Given the description of an element on the screen output the (x, y) to click on. 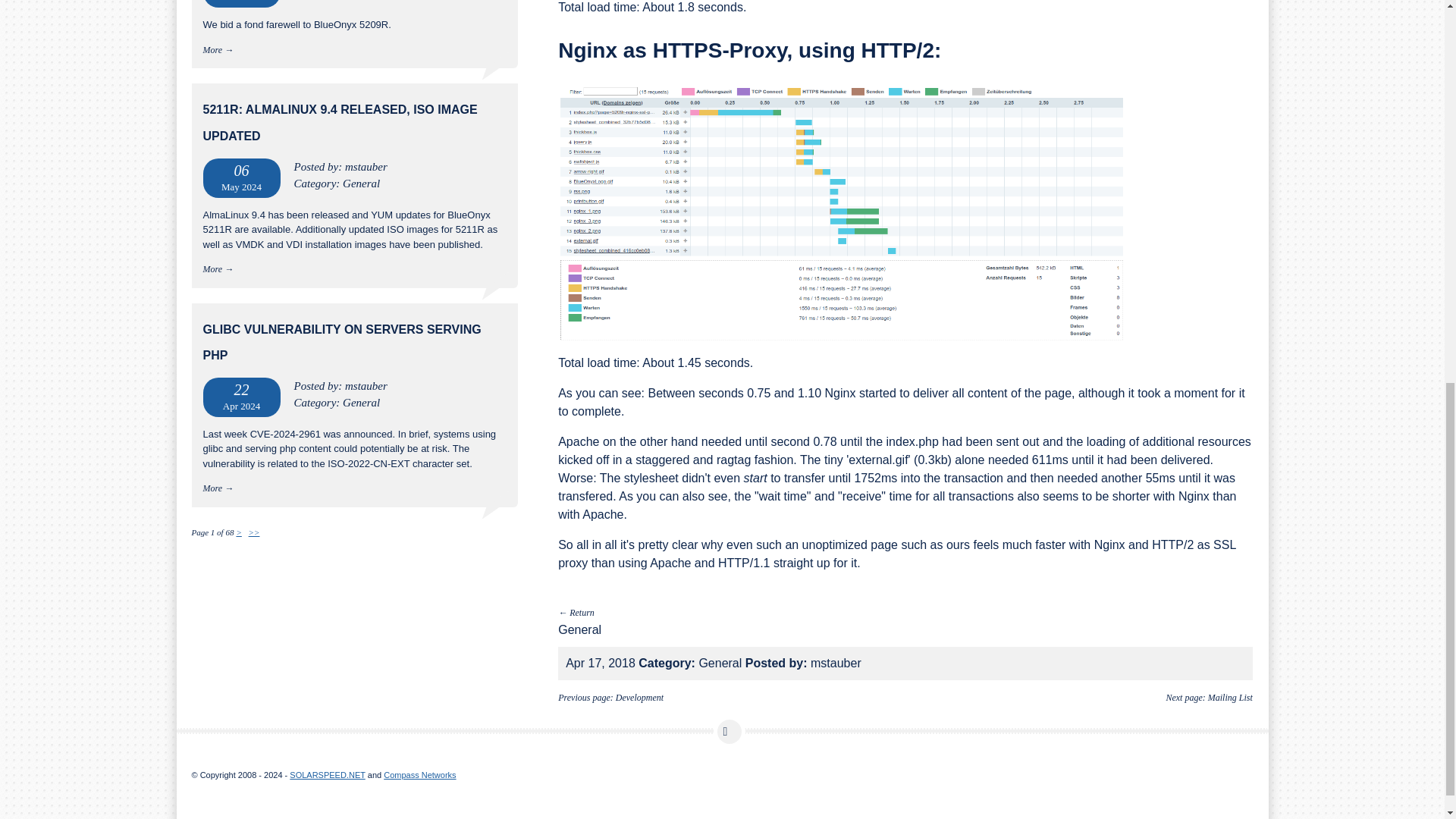
5211R: AlmaLinux 9.4 released, ISO image updated (340, 122)
GLIBC Vulnerability on Servers Serving PHP (342, 341)
Mailing List (1230, 697)
Compass Networks (419, 774)
Mailing List (1230, 697)
More (212, 268)
5211R: ALMALINUX 9.4 RELEASED, ISO IMAGE UPDATED (340, 122)
GLIBC VULNERABILITY ON SERVERS SERVING PHP (342, 341)
Return (581, 612)
SOLARSPEED.NET (327, 774)
More (212, 488)
Development (639, 697)
Development (639, 697)
More (212, 50)
